Given the description of an element on the screen output the (x, y) to click on. 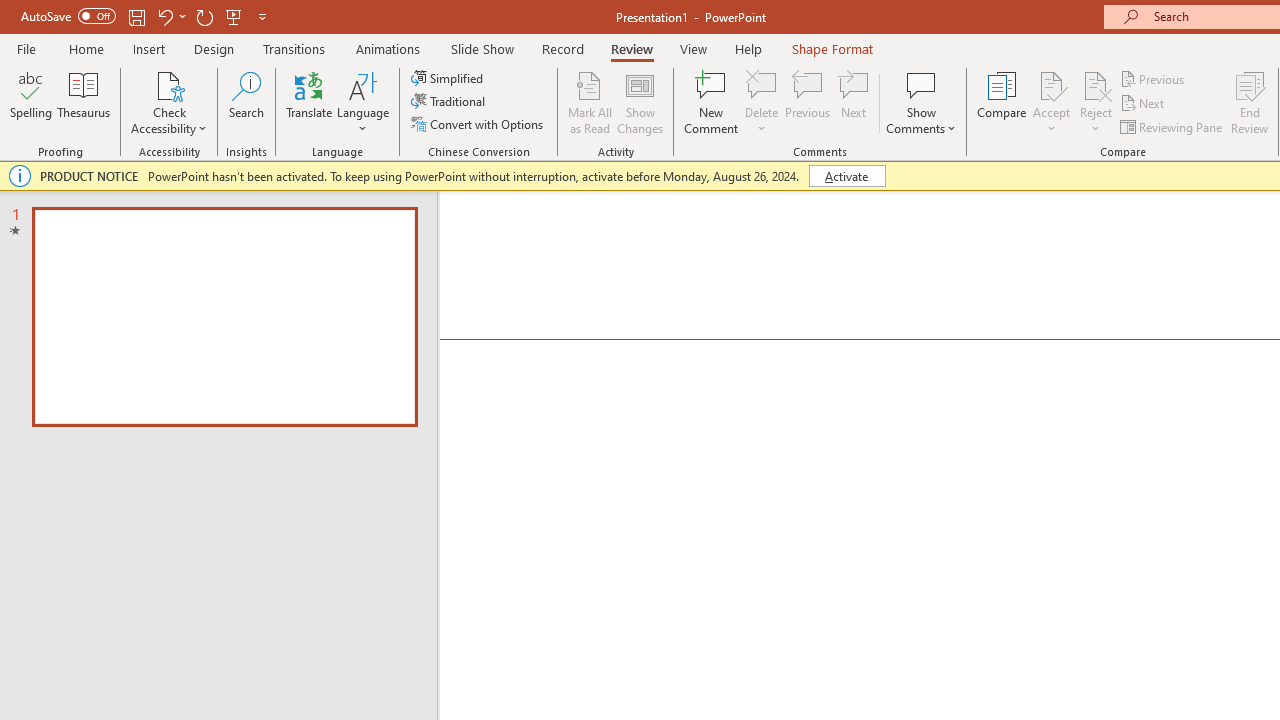
Previous (1153, 78)
Show Changes (639, 102)
Compare (1002, 102)
Reviewing Pane (1172, 126)
Traditional (449, 101)
Convert with Options... (479, 124)
Reject Change (1096, 84)
